Given the description of an element on the screen output the (x, y) to click on. 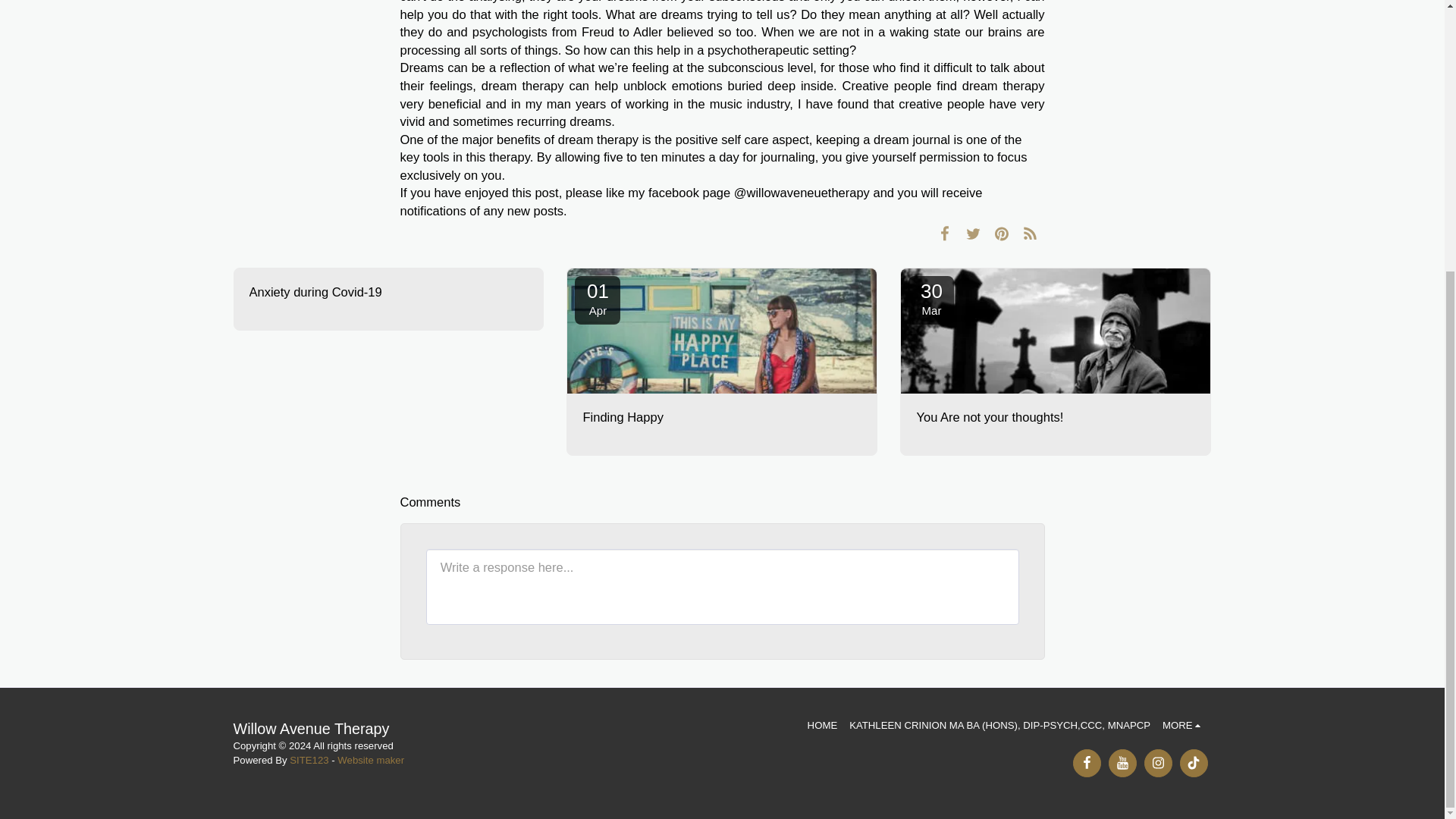
Pin it (1002, 233)
Tweet (973, 233)
RSS (1029, 233)
Share on Facebook (945, 233)
